Given the description of an element on the screen output the (x, y) to click on. 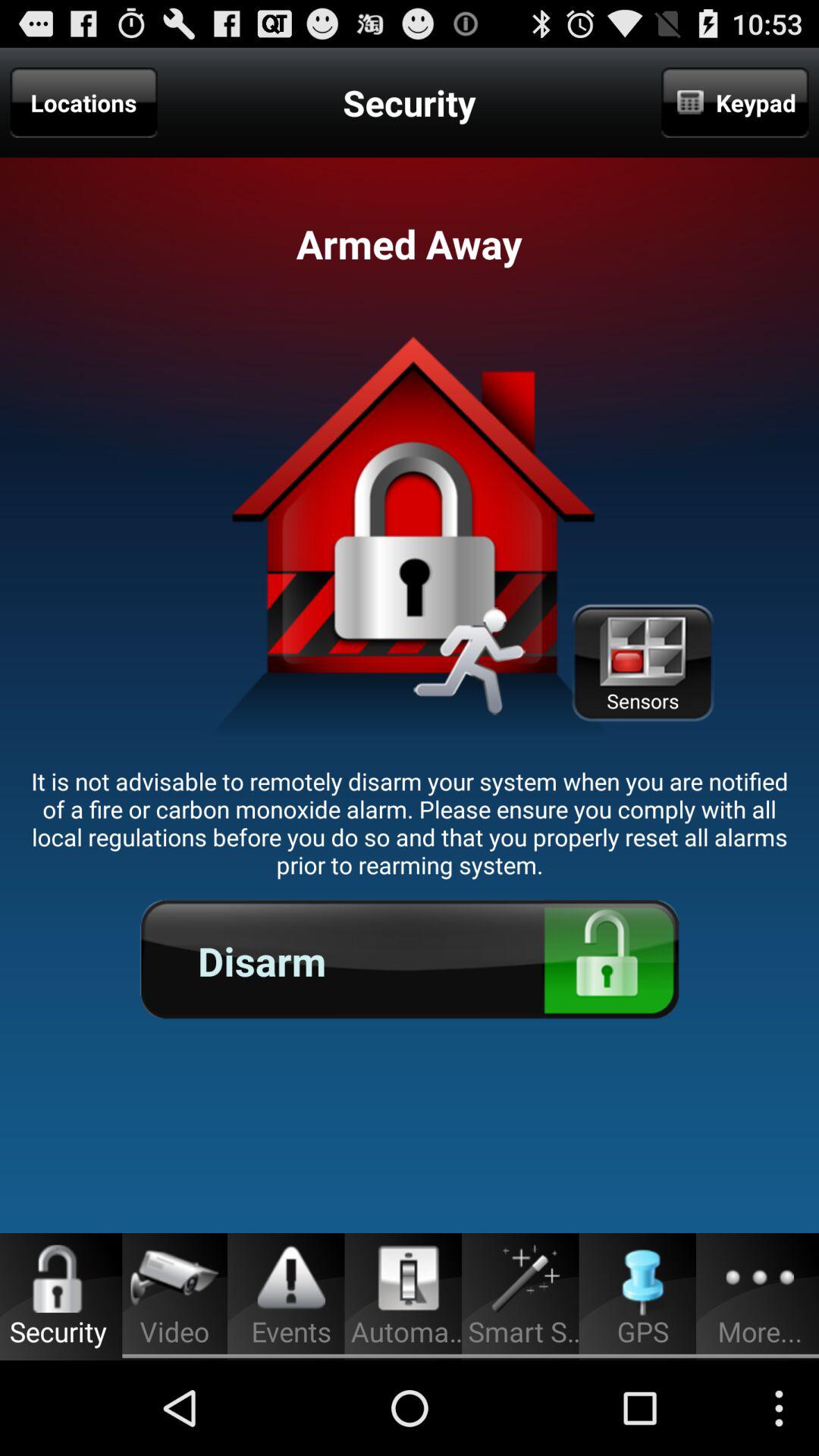
choose the item above it is not item (642, 662)
